Given the description of an element on the screen output the (x, y) to click on. 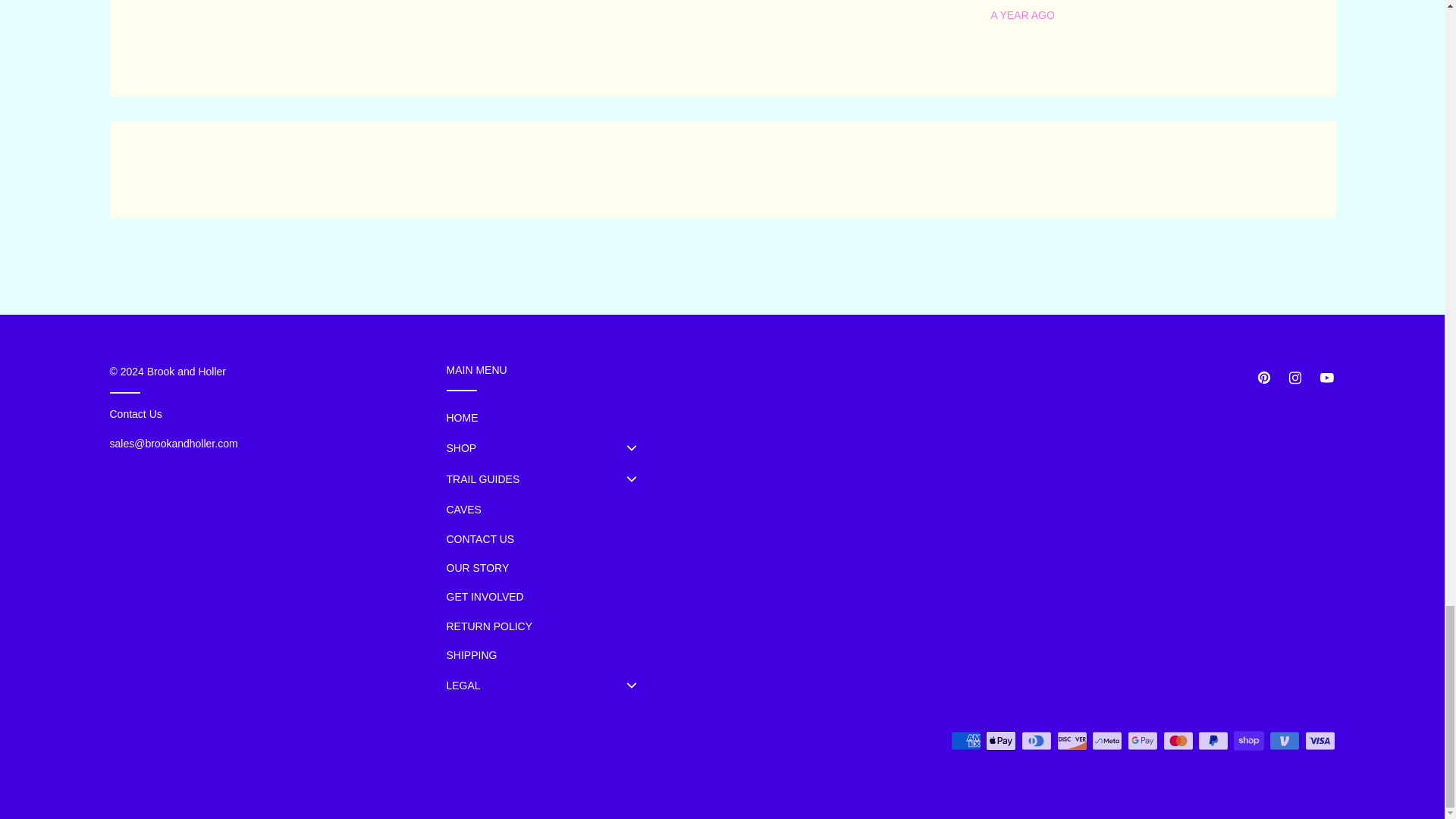
Brook and Holler  on Pinterest (1263, 377)
Brook and Holler  on Instagram (1295, 377)
Brook and Holler  on YouTube (1326, 377)
Apple Pay (1000, 740)
American Express (965, 740)
